Given the description of an element on the screen output the (x, y) to click on. 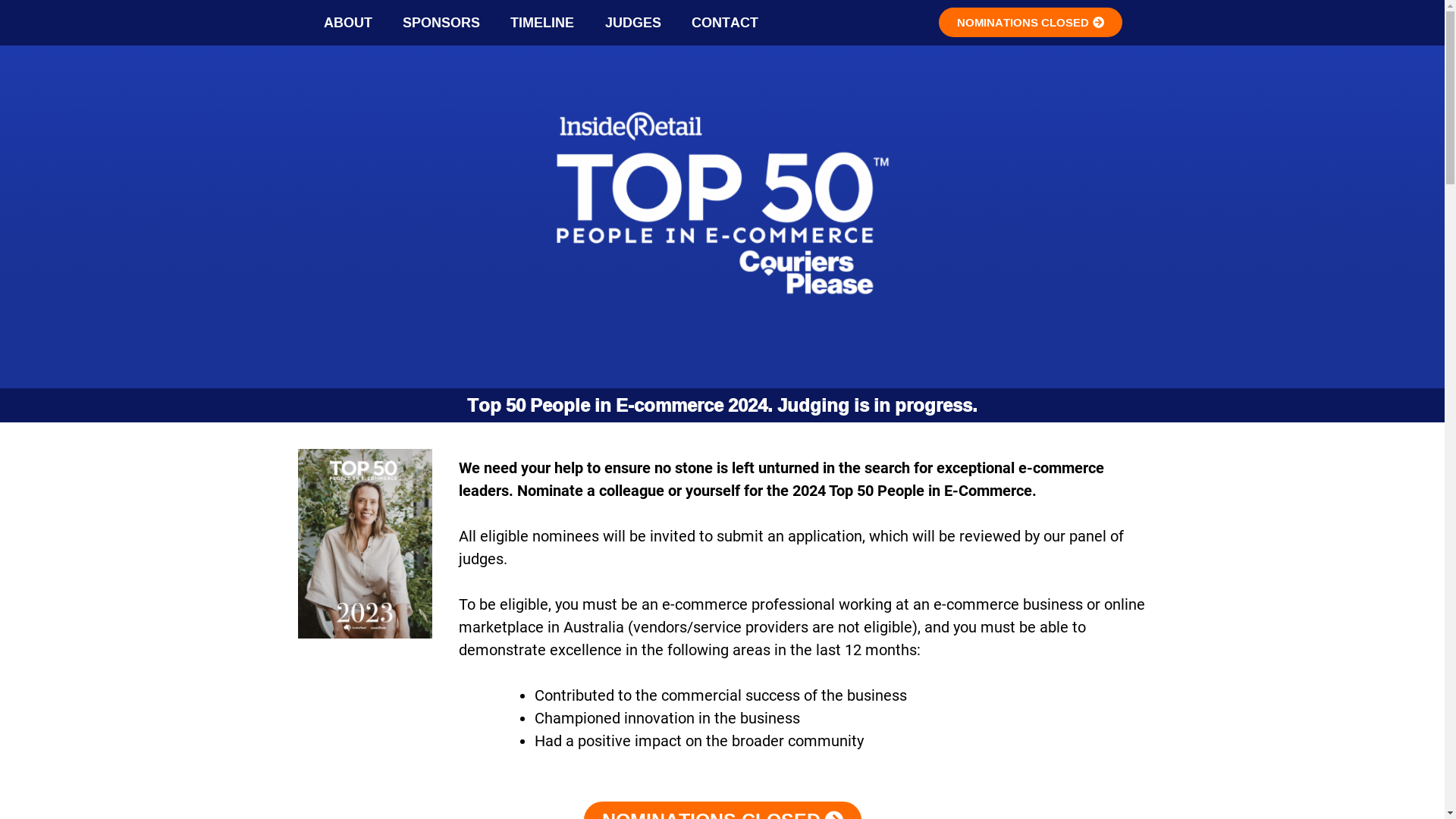
NOMINATIONS CLOSED Element type: text (1030, 22)
Top 50 People in E-commerce 2024. Judging is in progress. Element type: text (722, 404)
TIMELINE Element type: text (541, 22)
CONTACT Element type: text (724, 22)
JUDGES Element type: text (632, 22)
Top 50 People in E-commerce 2024 Element type: hover (722, 228)
IR-Logo-white Element type: hover (631, 125)
ABOUT Element type: text (347, 22)
SPONSORS Element type: text (441, 22)
